Given the description of an element on the screen output the (x, y) to click on. 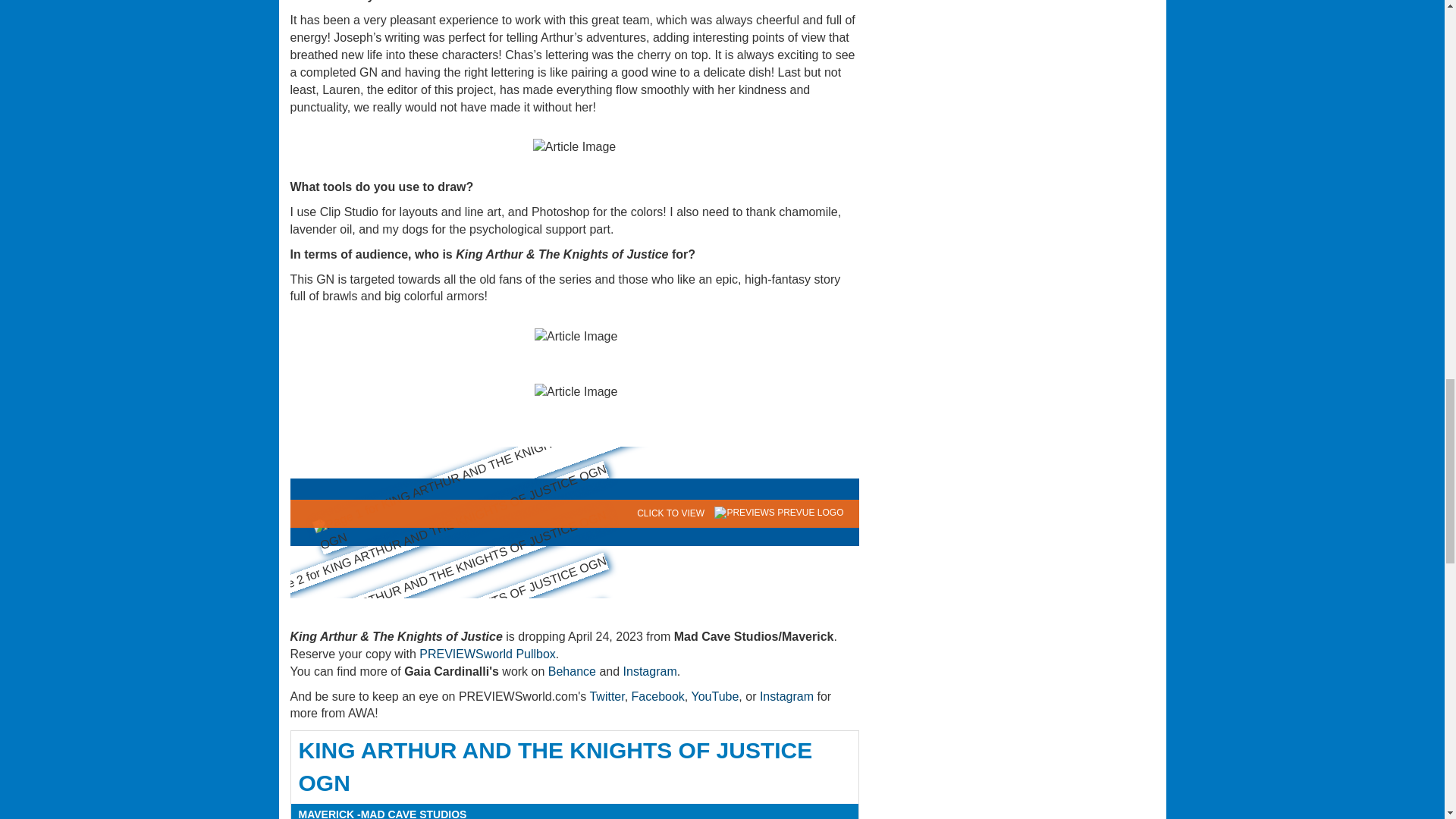
Instagram (650, 671)
Twitter (606, 696)
PREVIEWSworld Pullbox (487, 653)
Behance (571, 671)
